Given the description of an element on the screen output the (x, y) to click on. 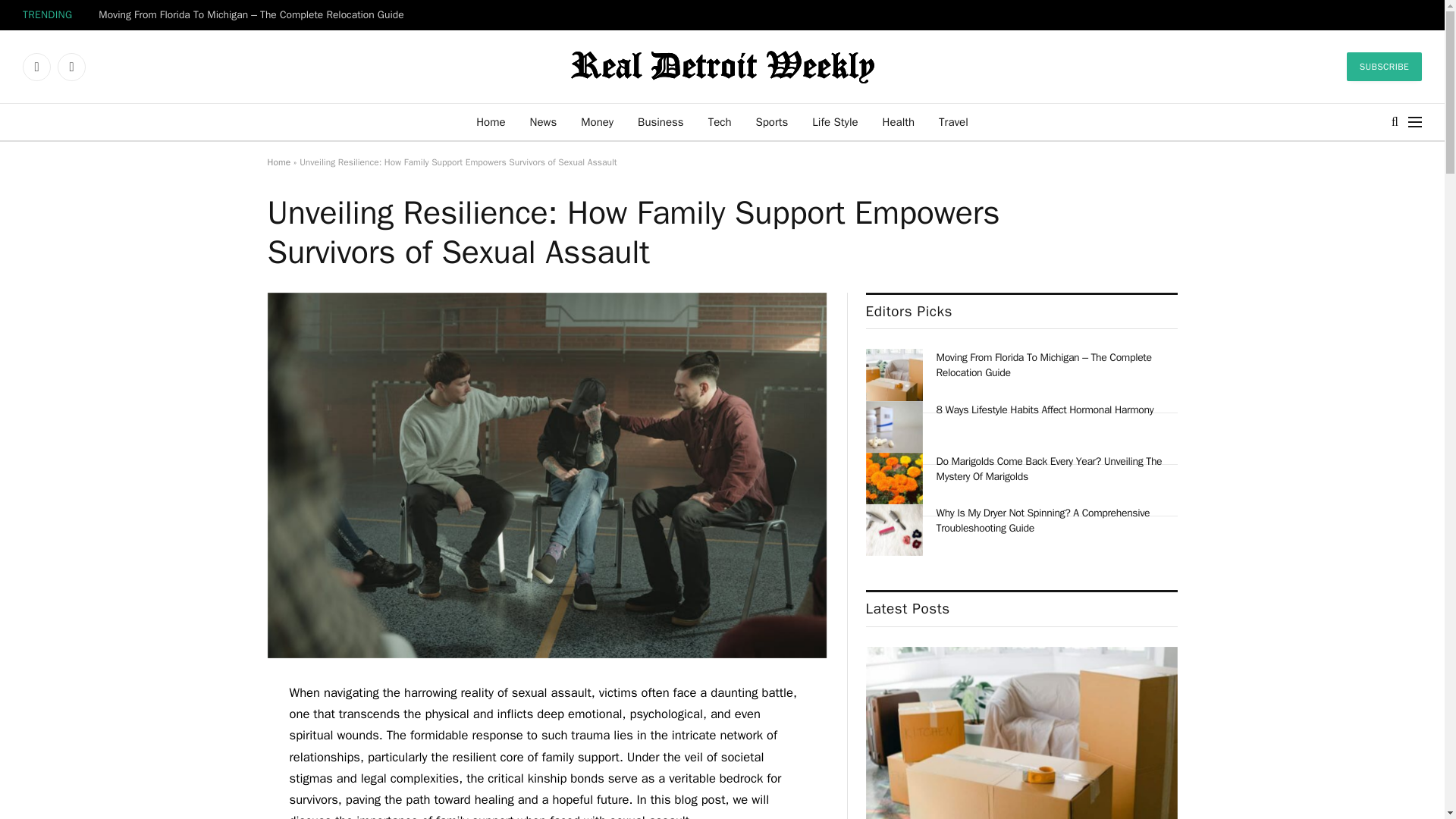
Health (898, 122)
Sports (770, 122)
Home (490, 122)
Business (660, 122)
Life Style (834, 122)
Money (597, 122)
Real Detroit Weekly (721, 66)
News (543, 122)
Facebook (36, 67)
Twitter (71, 67)
Tech (719, 122)
Home (277, 162)
Travel (952, 122)
SUBSCRIBE (1384, 66)
